Given the description of an element on the screen output the (x, y) to click on. 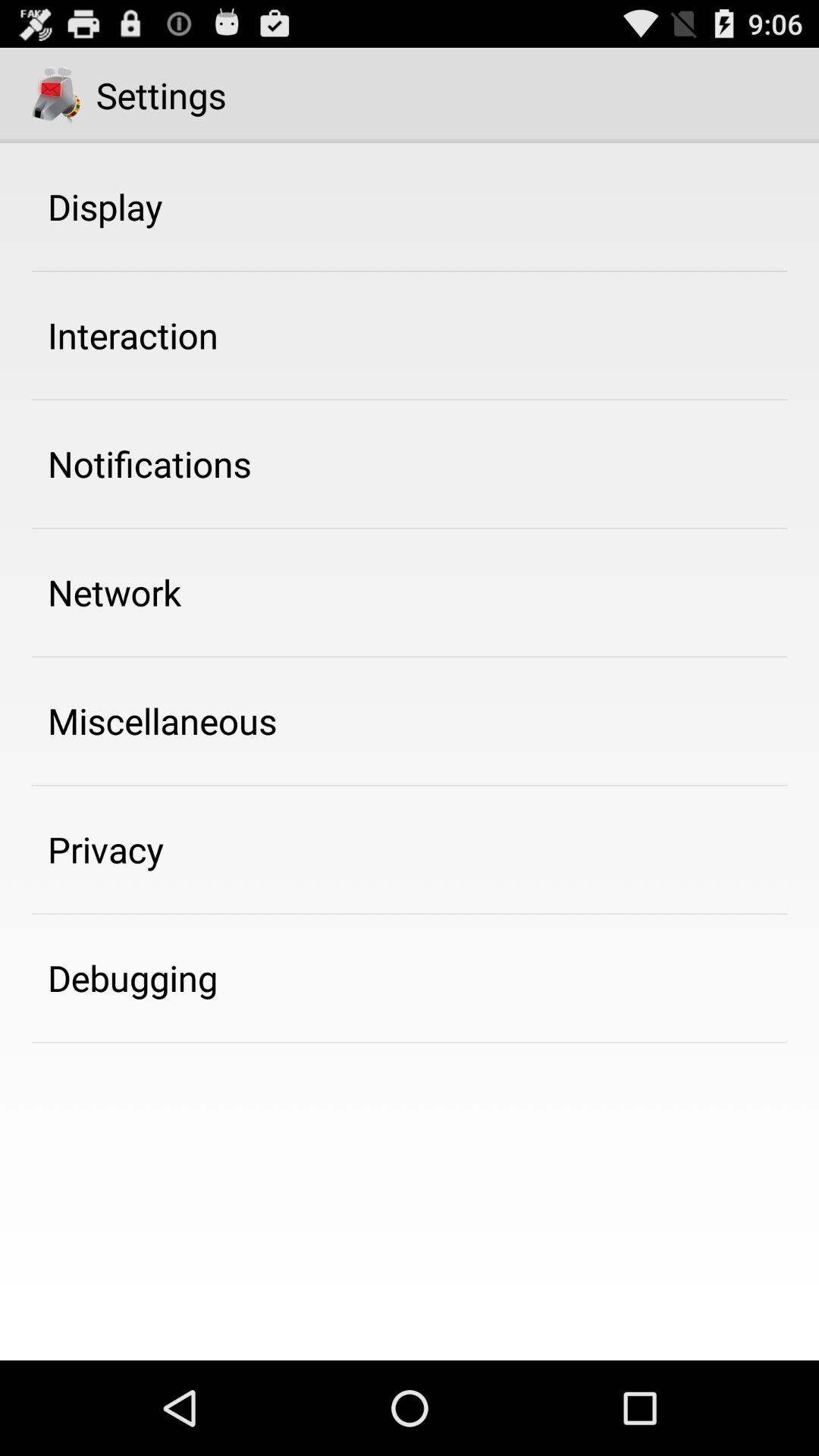
tap miscellaneous (161, 720)
